Given the description of an element on the screen output the (x, y) to click on. 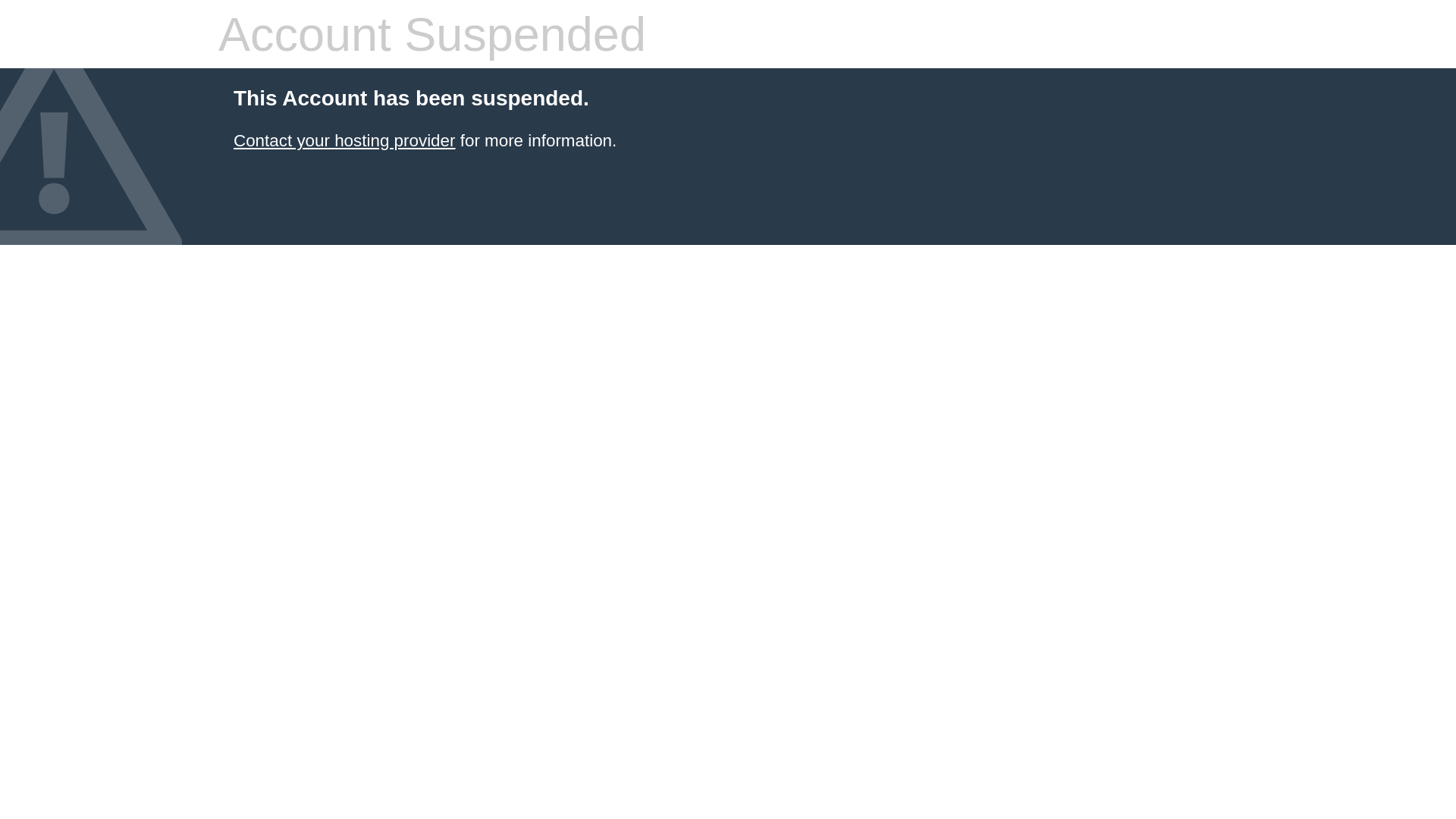
Contact your hosting provider Element type: text (344, 140)
